Given the description of an element on the screen output the (x, y) to click on. 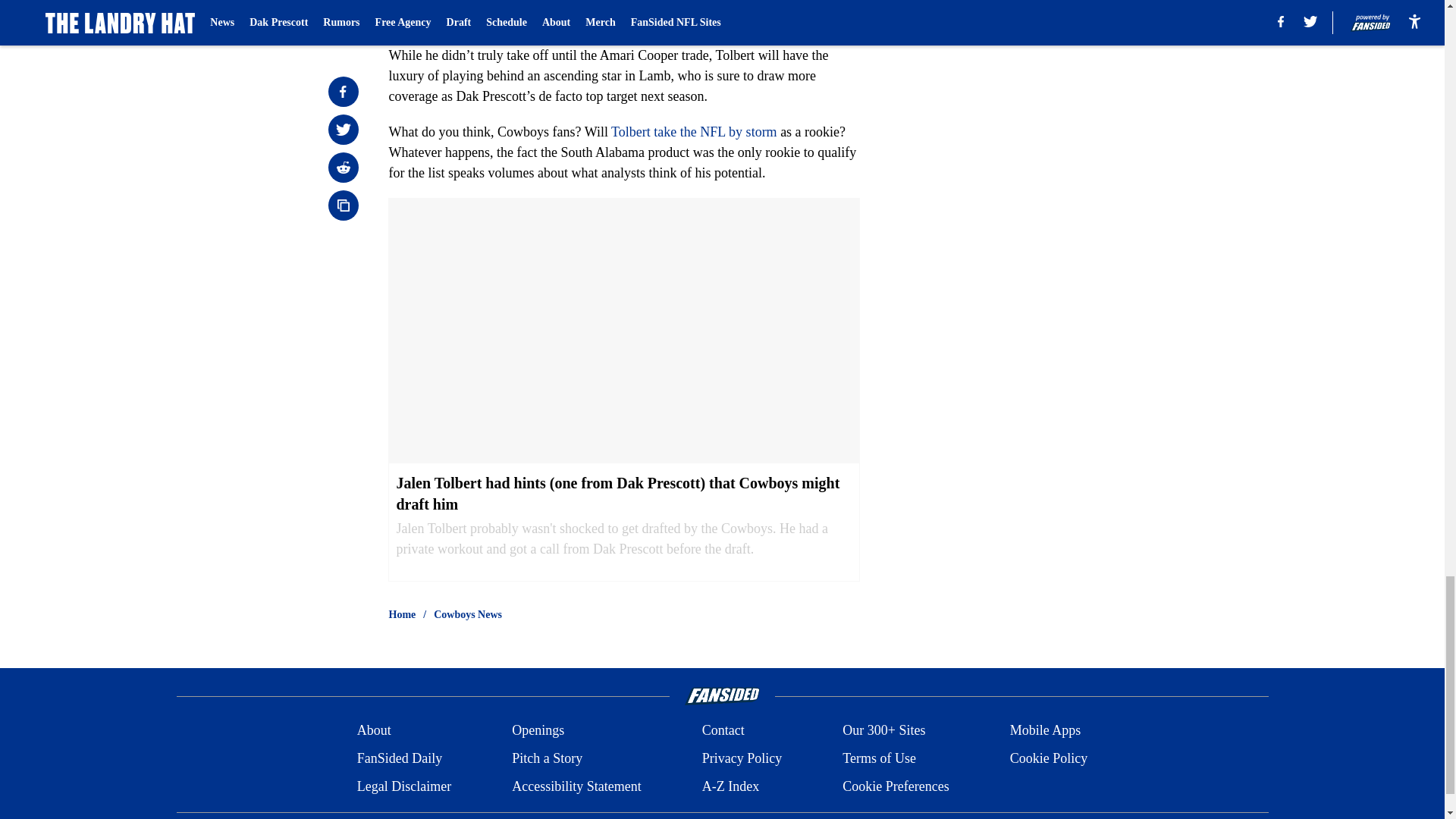
Home (401, 614)
Openings (538, 730)
About (373, 730)
Cowboys News (467, 614)
Contact (722, 730)
FanSided Daily (399, 758)
Tolbert take the NFL by storm (694, 131)
Mobile Apps (1045, 730)
